Given the description of an element on the screen output the (x, y) to click on. 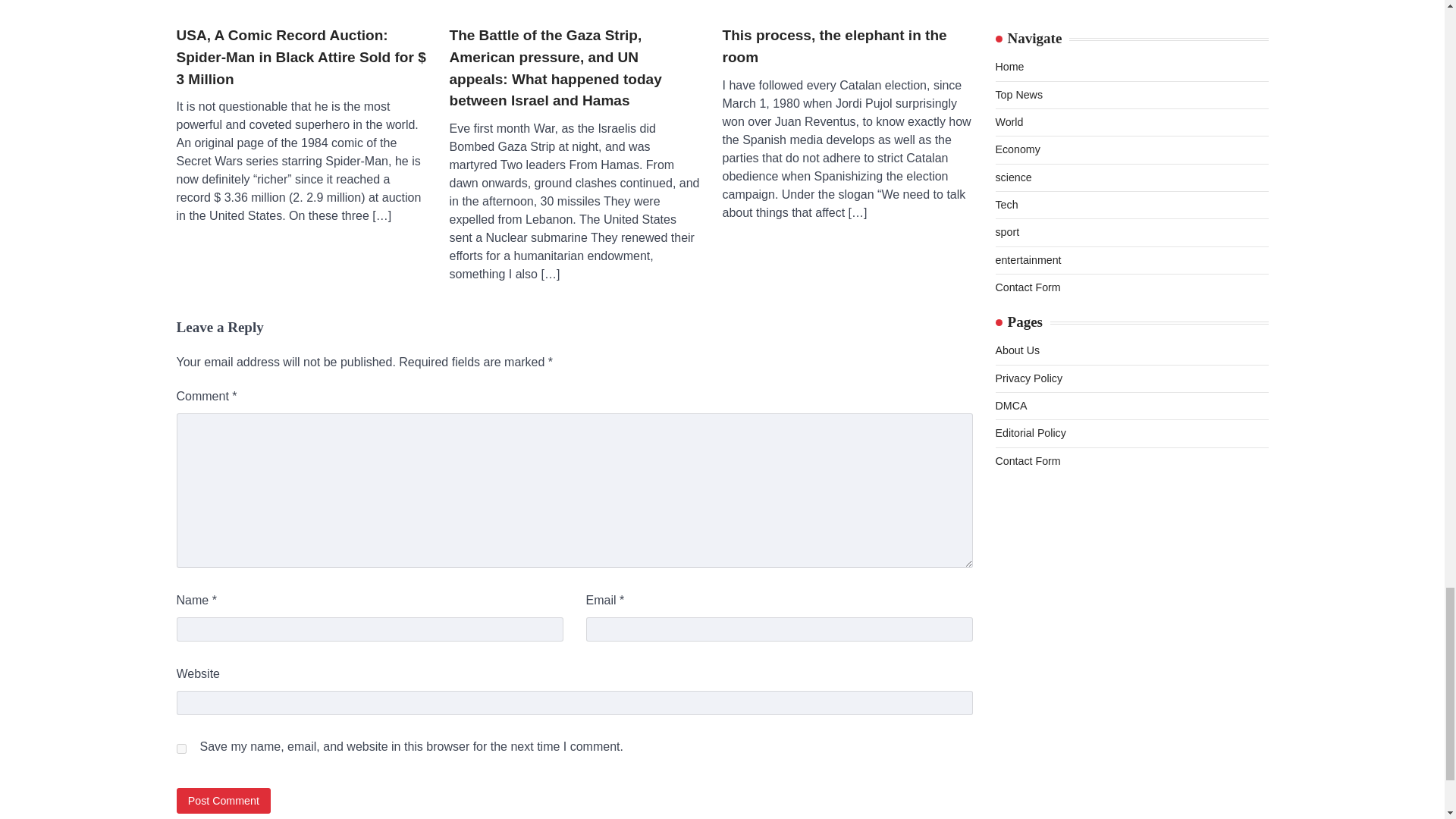
This process, the elephant in the room (847, 46)
Post Comment (223, 800)
yes (181, 748)
This process, the elephant in the room (847, 4)
Post Comment (223, 800)
